Given the description of an element on the screen output the (x, y) to click on. 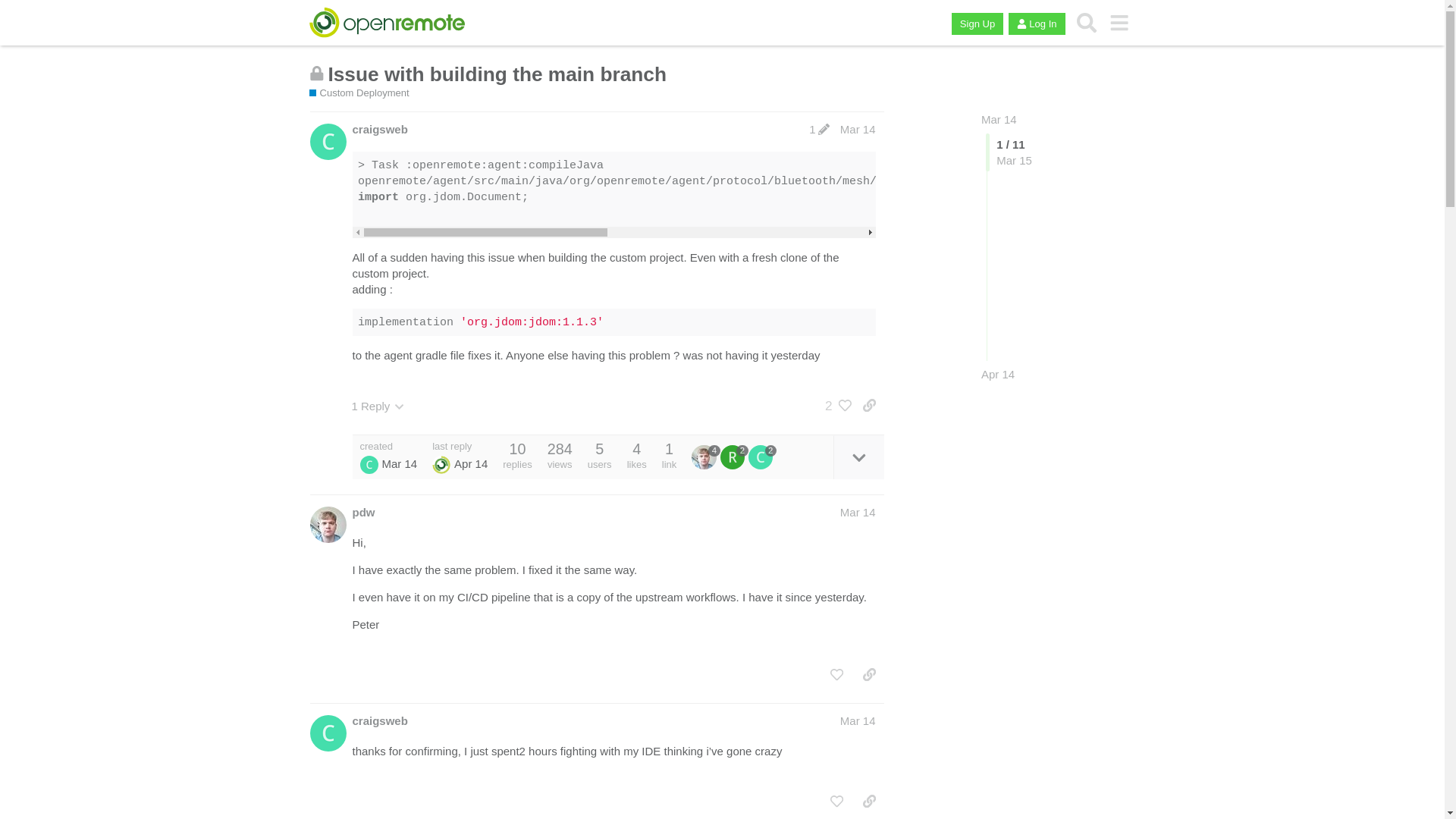
expand topic details (857, 456)
share a link to this post (869, 405)
Sign Up (977, 24)
Apr 14, 2024 7:36 pm (470, 463)
system (440, 464)
Mar 14 (998, 119)
1 Reply (377, 406)
craigsweb (379, 720)
pdw (363, 512)
Custom Deployment (358, 92)
craig (368, 464)
This topic is closed; it no longer accepts new replies (316, 73)
Mar 14 (998, 119)
Post date (858, 128)
Apr 14, 2024 7:36 pm (997, 373)
